Given the description of an element on the screen output the (x, y) to click on. 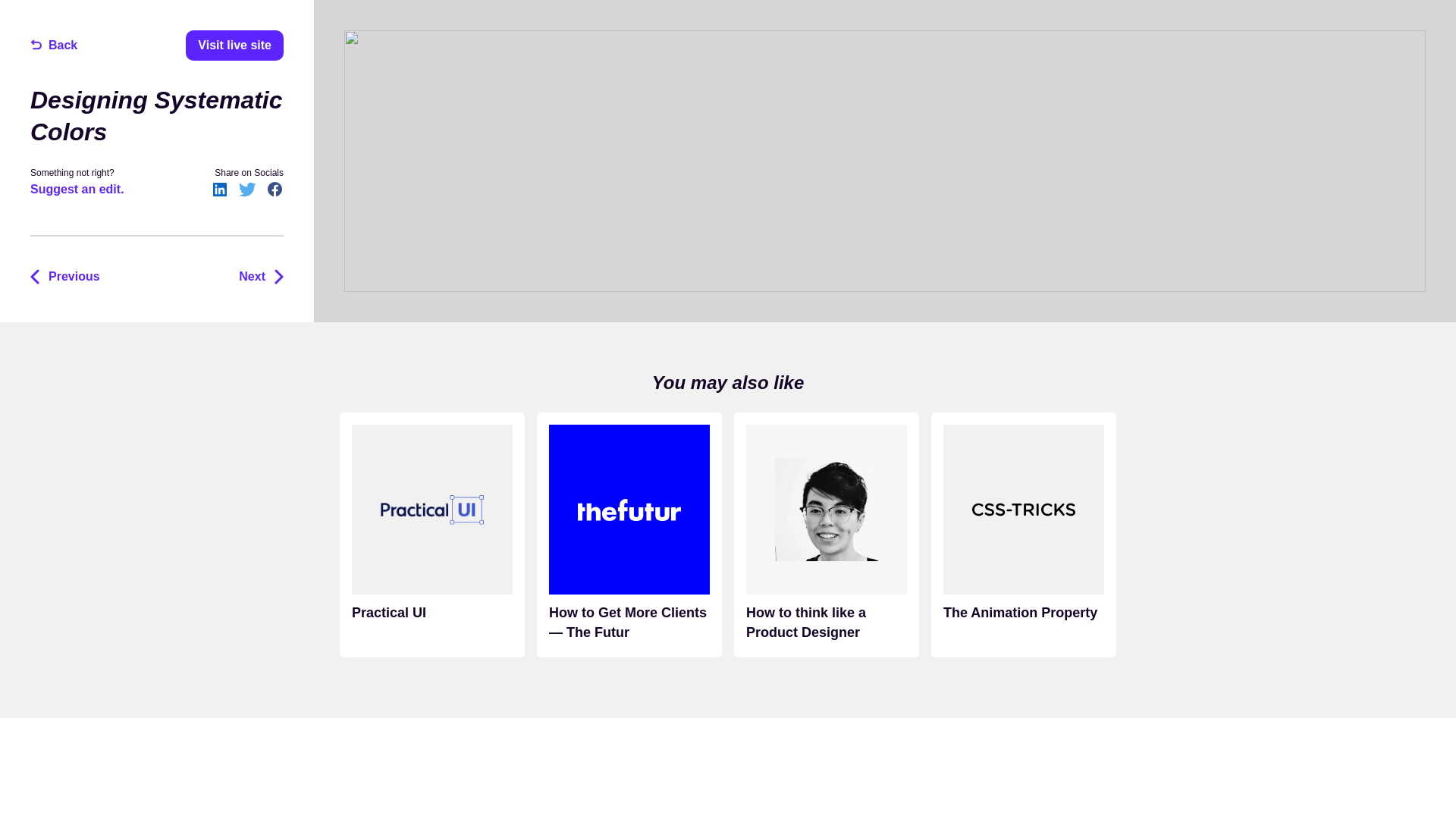
Visit live site (234, 45)
Tweet (247, 189)
Share on LinkedIn (219, 189)
Share on Facebook (273, 189)
Next (255, 276)
Back (59, 45)
Previous (71, 276)
Suggest an edit. (76, 189)
